Given the description of an element on the screen output the (x, y) to click on. 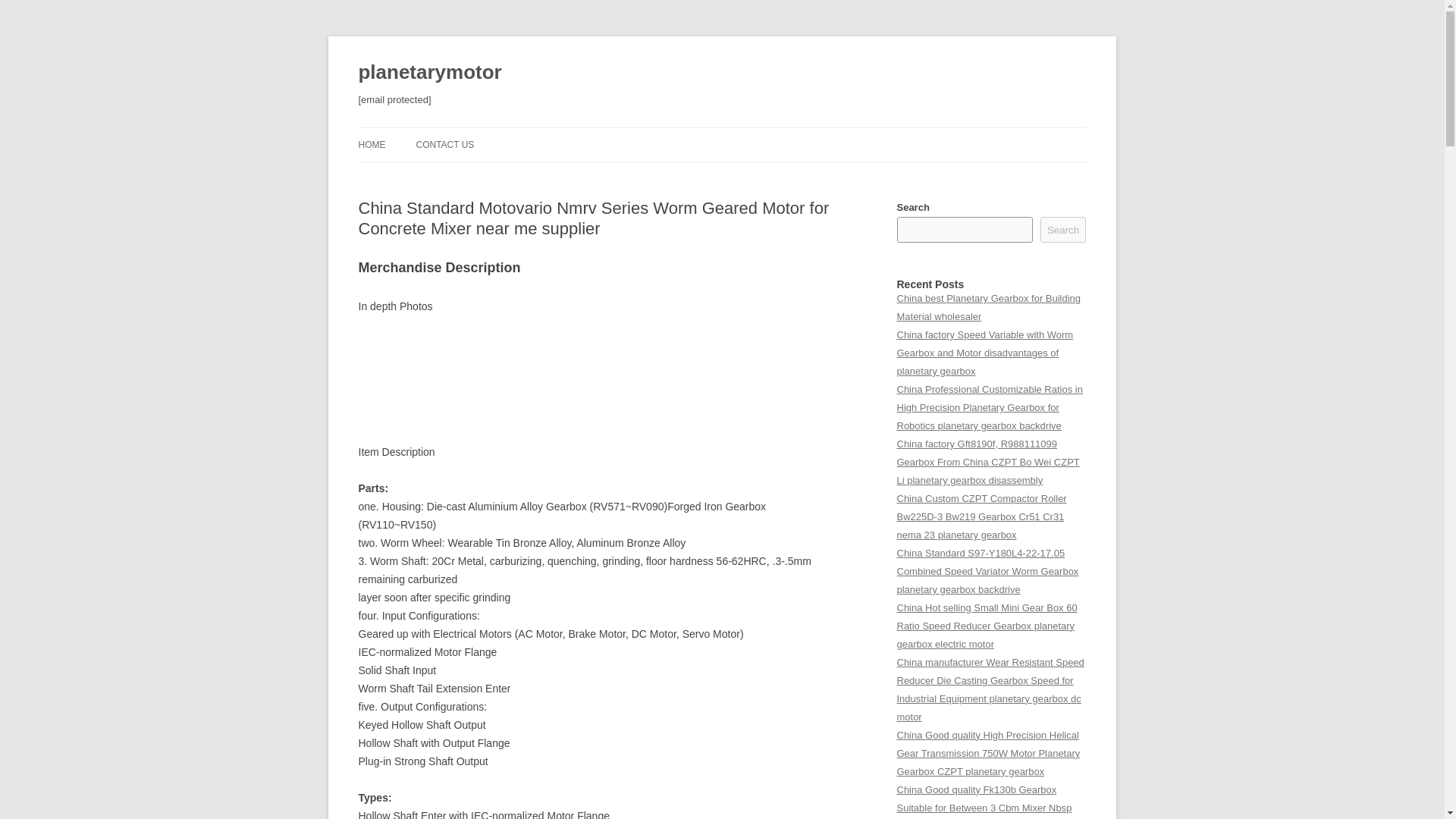
CONTACT US (444, 144)
